Given the description of an element on the screen output the (x, y) to click on. 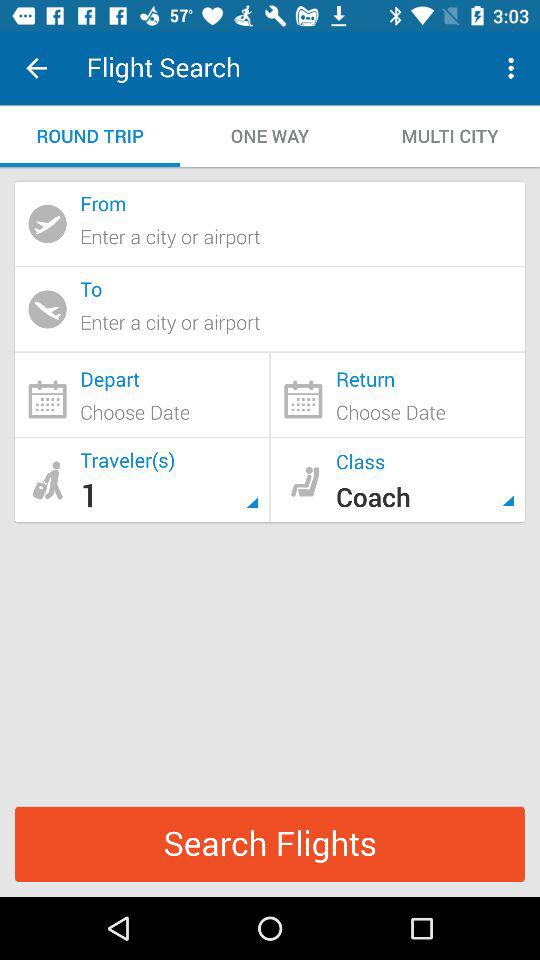
jump to multi city item (450, 136)
